Given the description of an element on the screen output the (x, y) to click on. 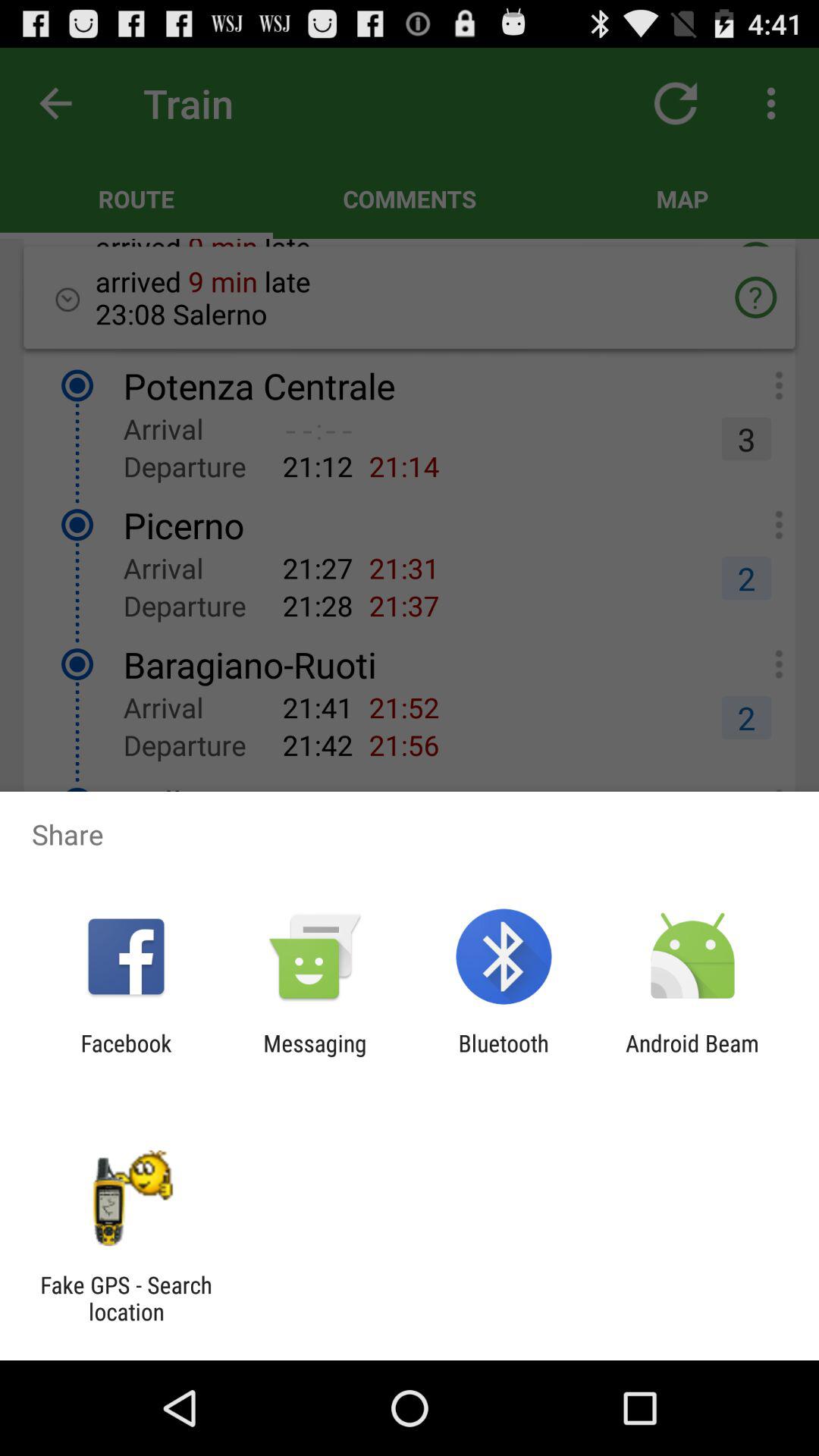
tap the facebook app (125, 1056)
